Given the description of an element on the screen output the (x, y) to click on. 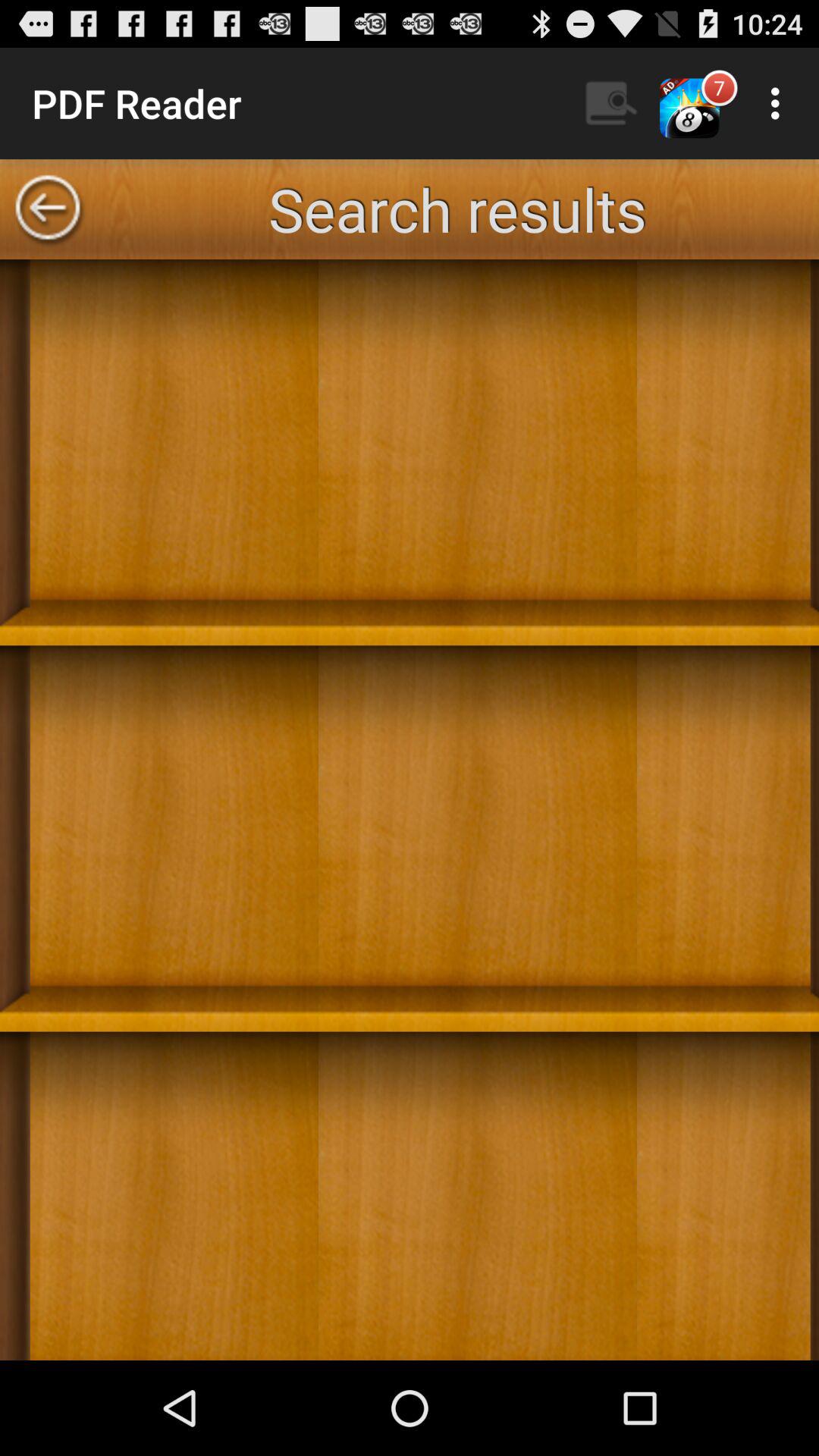
launch the item next to the search results (47, 209)
